Given the description of an element on the screen output the (x, y) to click on. 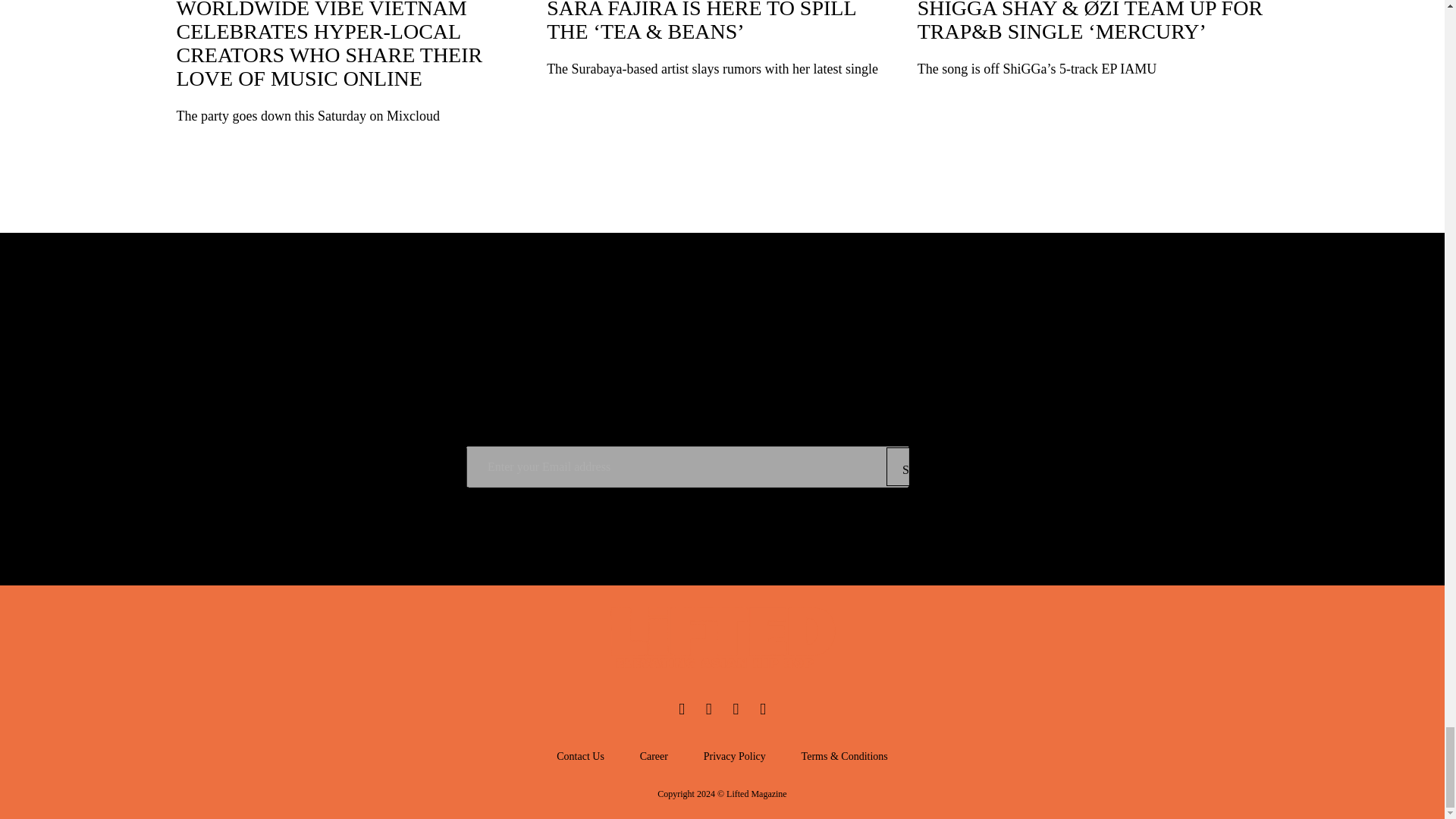
Subscribe (932, 466)
